Given the description of an element on the screen output the (x, y) to click on. 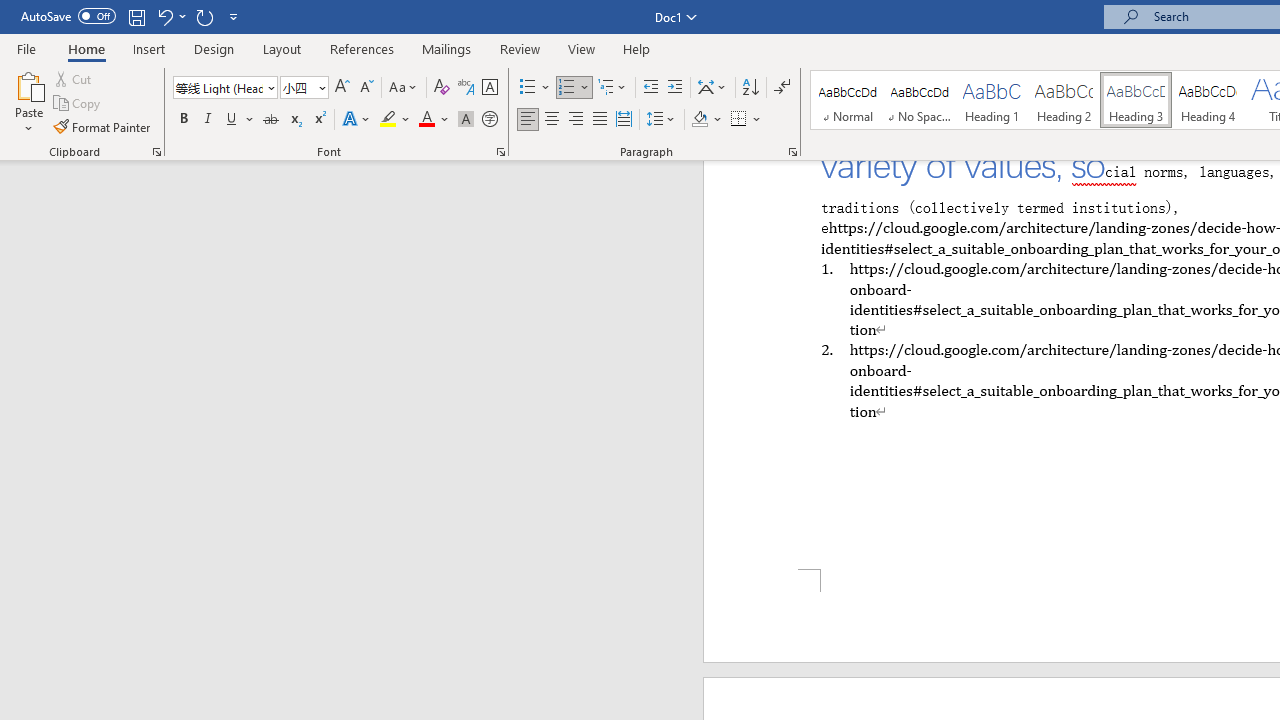
Change Case (404, 87)
Decrease Indent (650, 87)
Repeat Underline Style (204, 15)
Center (552, 119)
Font Color Blue-Gray, Text 2 (426, 119)
Superscript (319, 119)
Asian Layout (712, 87)
Cut (73, 78)
Text Highlight Color Yellow (388, 119)
